Given the description of an element on the screen output the (x, y) to click on. 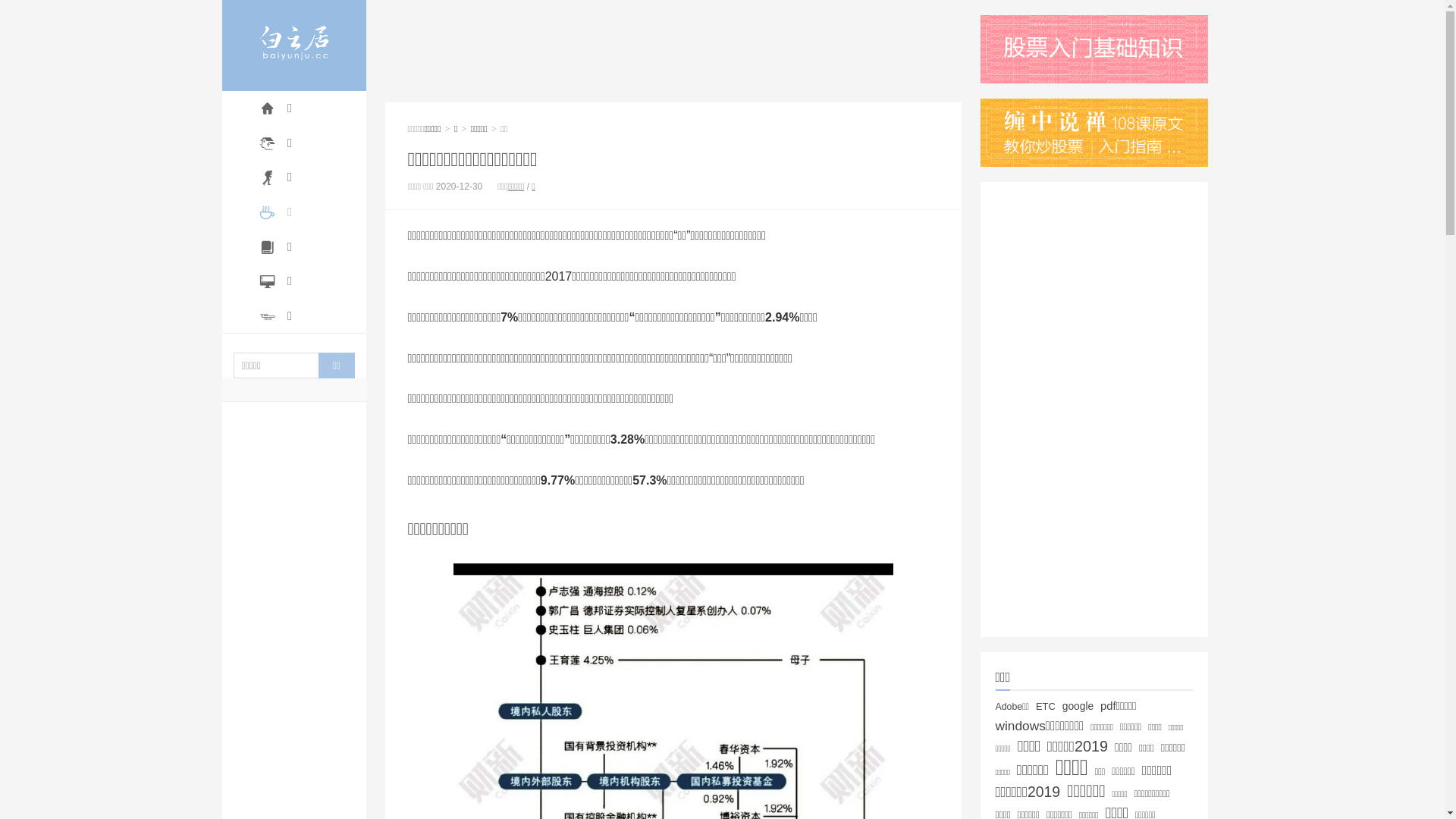
google Element type: text (1077, 705)
Advertisement Element type: hover (673, 49)
Advertisement Element type: hover (1093, 409)
ETC Element type: text (1045, 706)
